Given the description of an element on the screen output the (x, y) to click on. 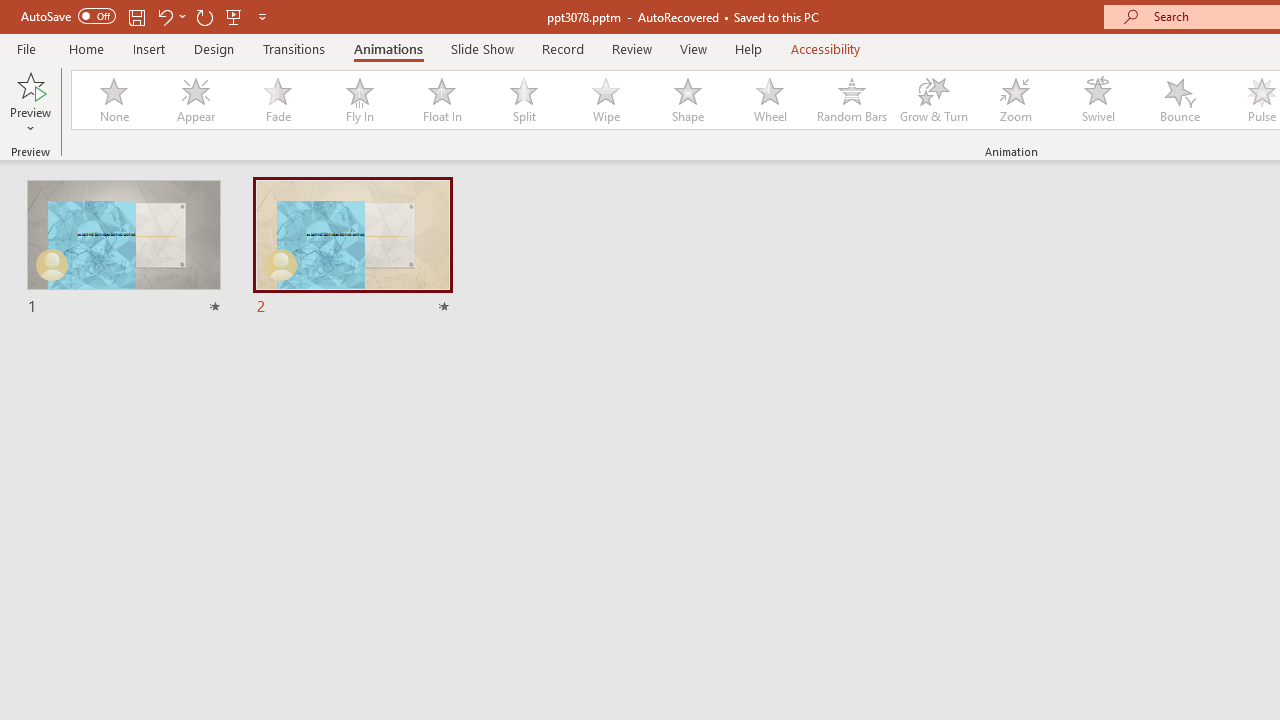
Random Bars (852, 100)
Grow & Turn (934, 100)
